Given the description of an element on the screen output the (x, y) to click on. 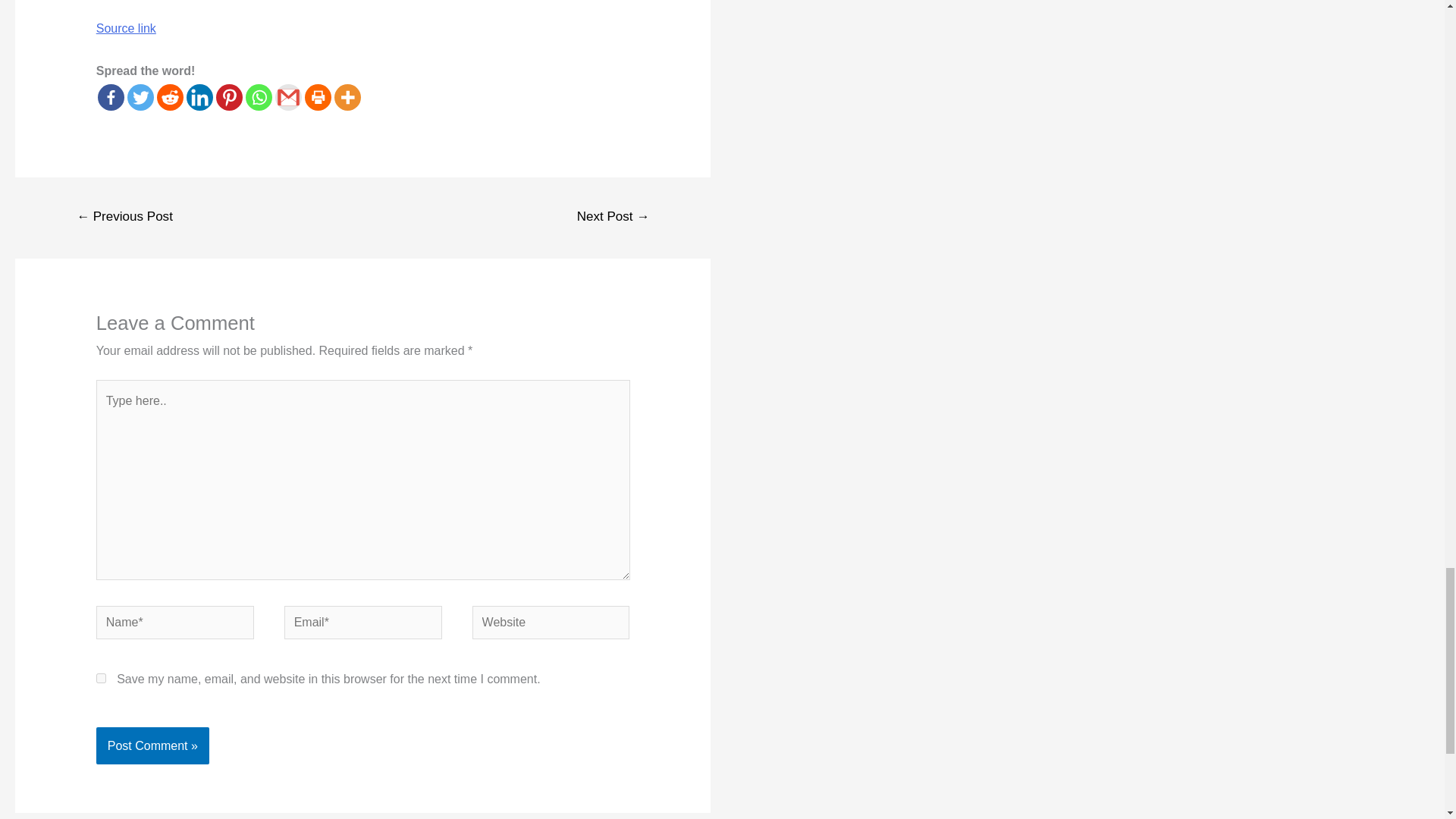
Facebook (110, 97)
Linkedin (199, 97)
yes (101, 678)
Twitter (141, 97)
Source link (125, 28)
Print (317, 97)
Whatsapp (259, 97)
Reddit (170, 97)
Pinterest (229, 97)
More (347, 97)
Google Gmail (288, 97)
